Given the description of an element on the screen output the (x, y) to click on. 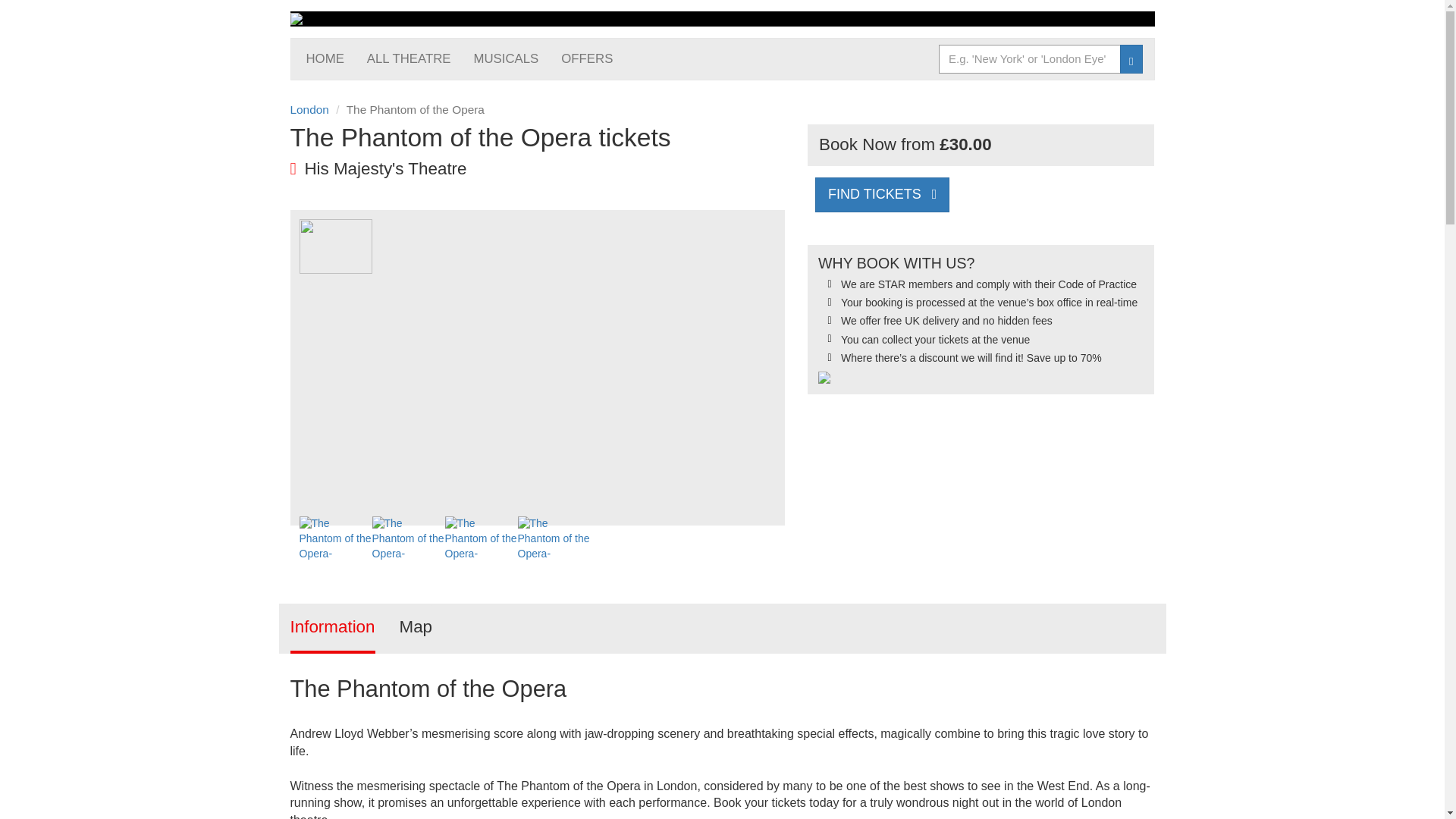
ALL THEATRE (409, 58)
MUSICALS (506, 58)
OFFERS (587, 58)
FIND TICKETS (882, 194)
Information (331, 628)
HOME (324, 58)
London (309, 109)
